Given the description of an element on the screen output the (x, y) to click on. 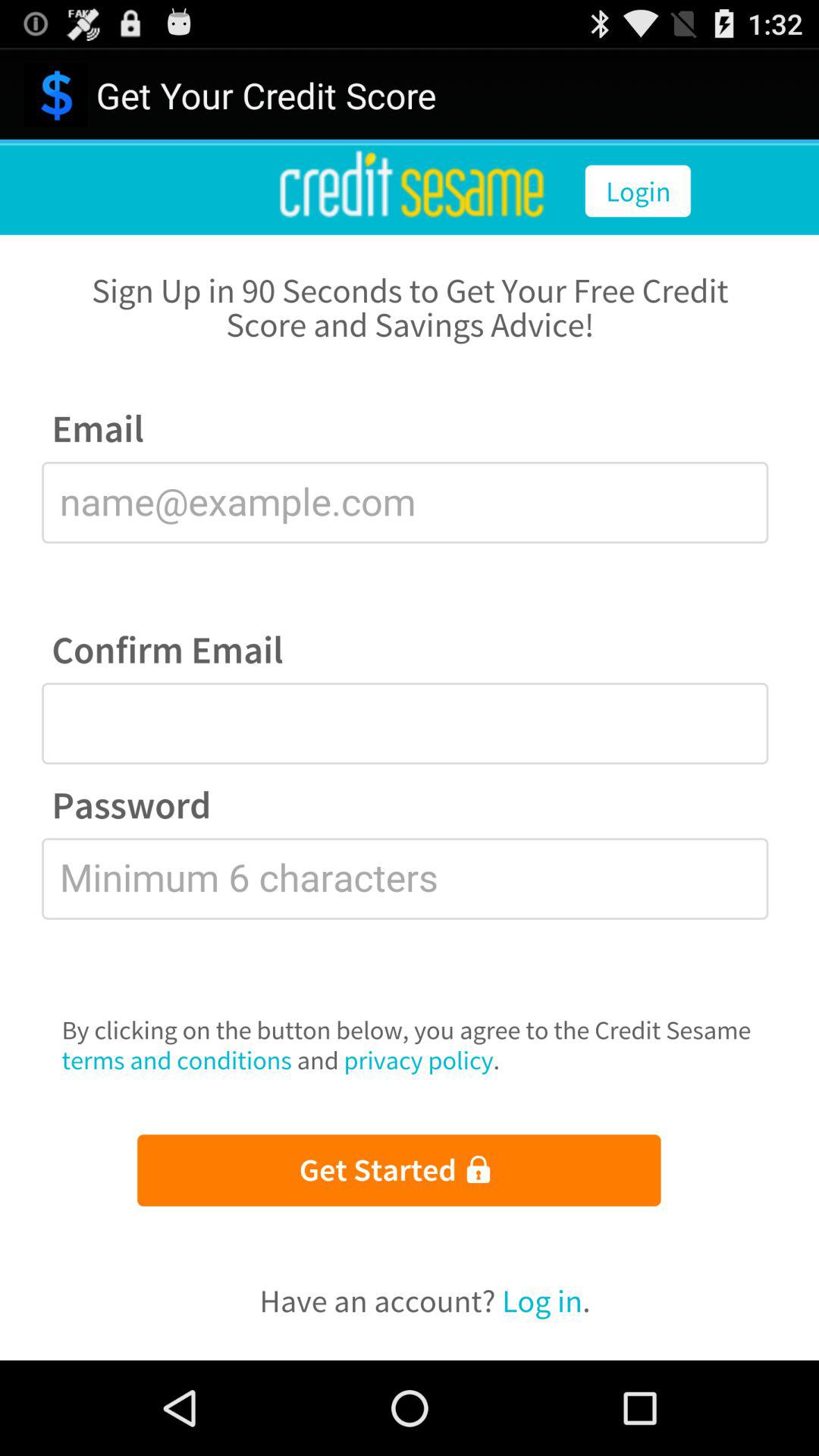
account creation page (409, 751)
